Given the description of an element on the screen output the (x, y) to click on. 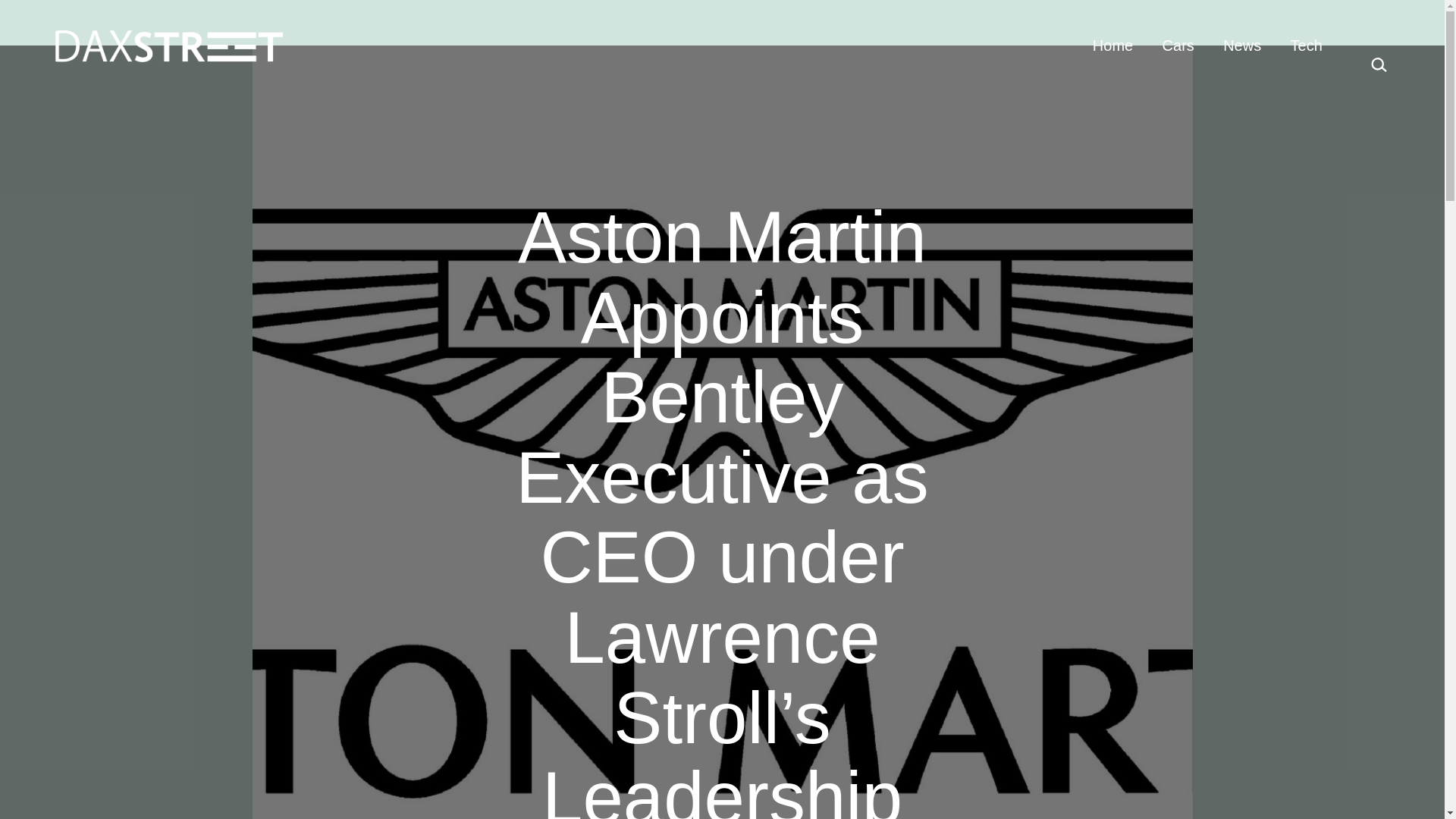
Cars (1177, 45)
News (1241, 45)
Home (1112, 45)
Tech (1305, 45)
